Given the description of an element on the screen output the (x, y) to click on. 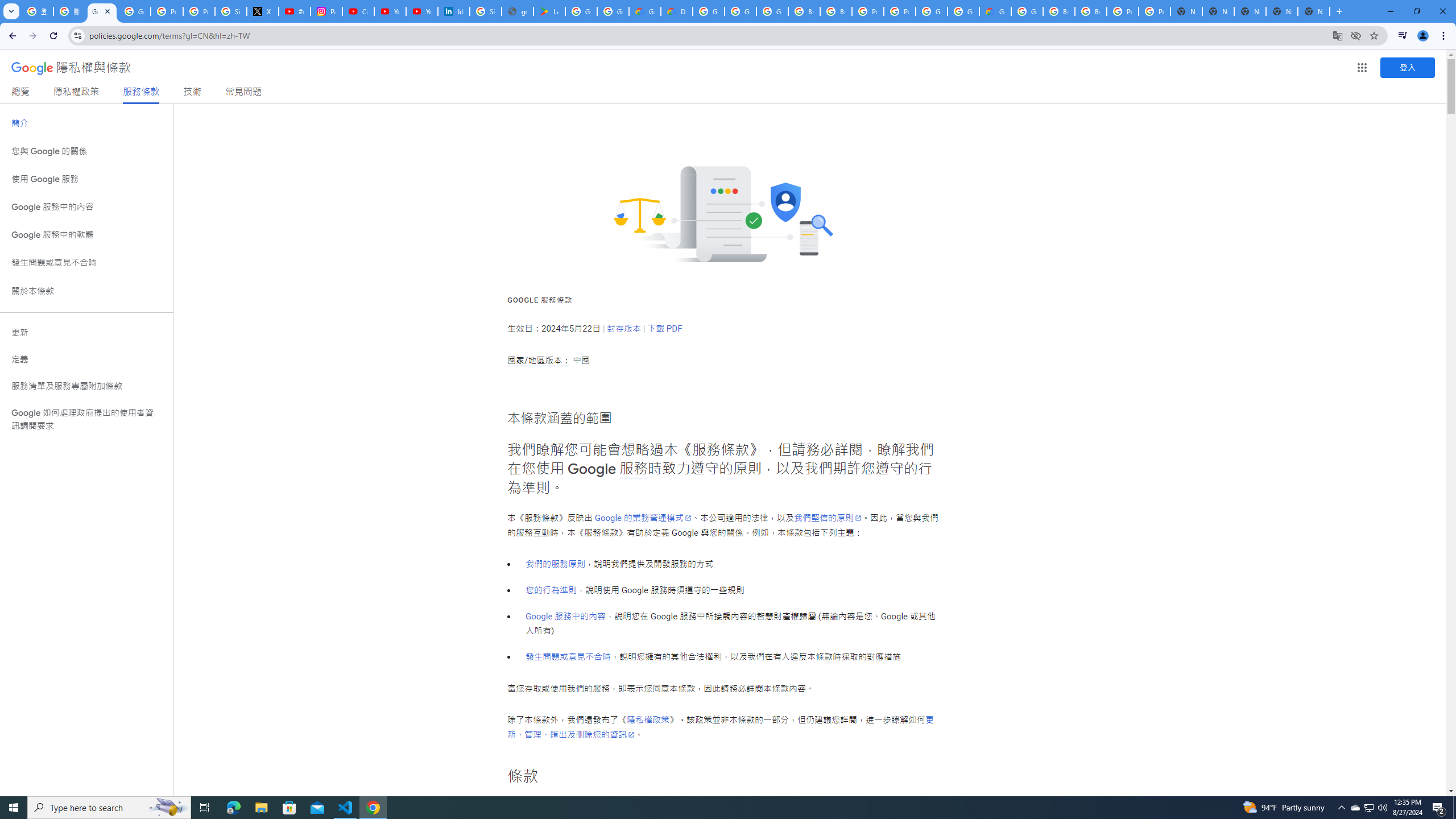
YouTube Culture & Trends - YouTube Top 10, 2021 (421, 11)
Google Cloud Platform (708, 11)
Google Cloud Platform (963, 11)
Google Workspace - Specific Terms (613, 11)
